Given the description of an element on the screen output the (x, y) to click on. 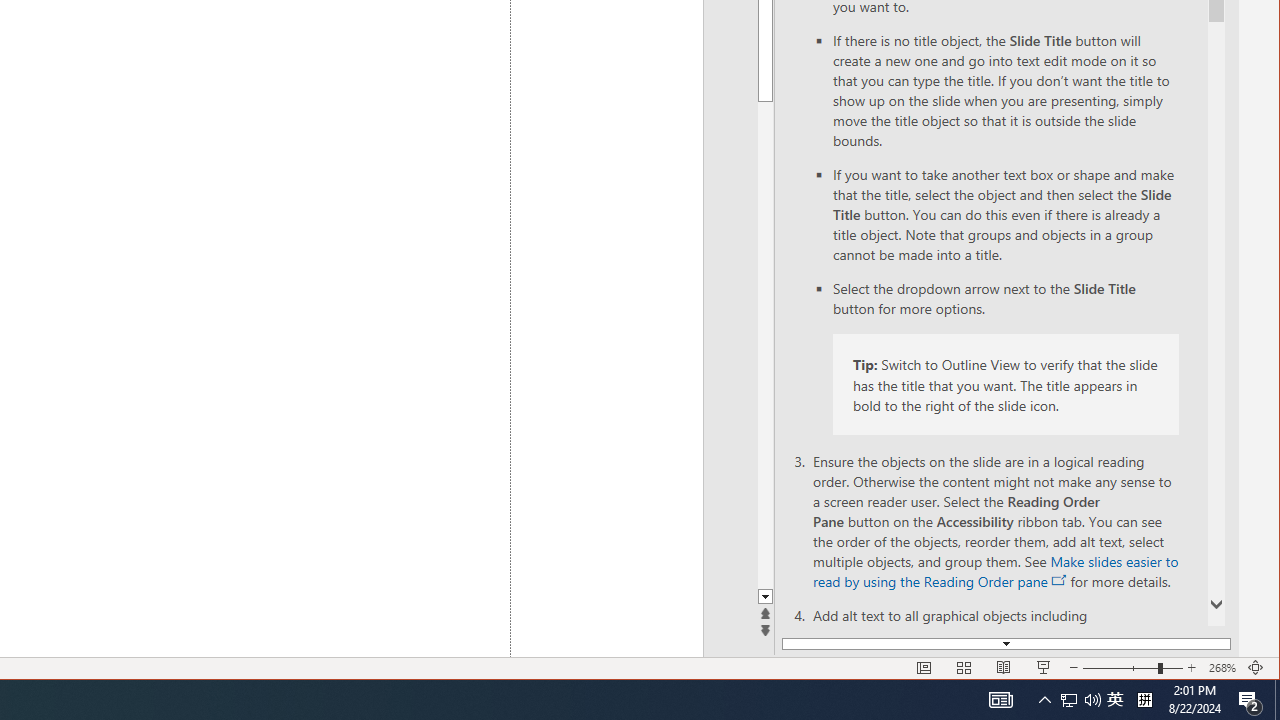
AutomationID: 4105 (1115, 699)
User Promoted Notification Area (1000, 699)
Zoom 268% (1069, 699)
Action Center, 2 new notifications (1080, 699)
